Given the description of an element on the screen output the (x, y) to click on. 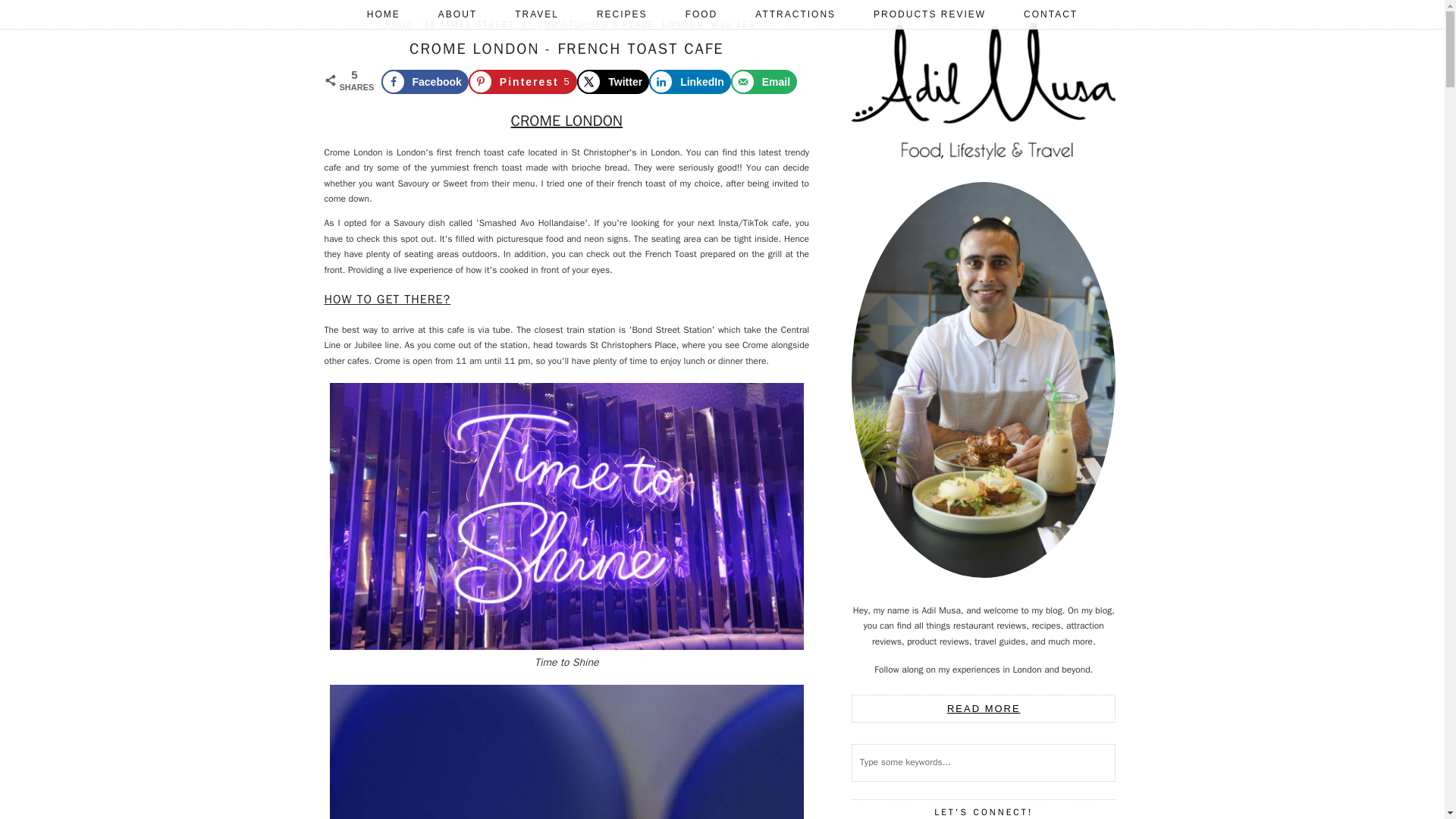
RECIPES (622, 14)
CONTACT (1050, 14)
TRAVEL (537, 14)
Save to Pinterest (522, 81)
ATTRACTIONS (795, 14)
ABOUT (457, 14)
PRODUCTS REVIEW (929, 14)
Share on Facebook (423, 81)
Share on X (612, 81)
HOME (383, 14)
